Given the description of an element on the screen output the (x, y) to click on. 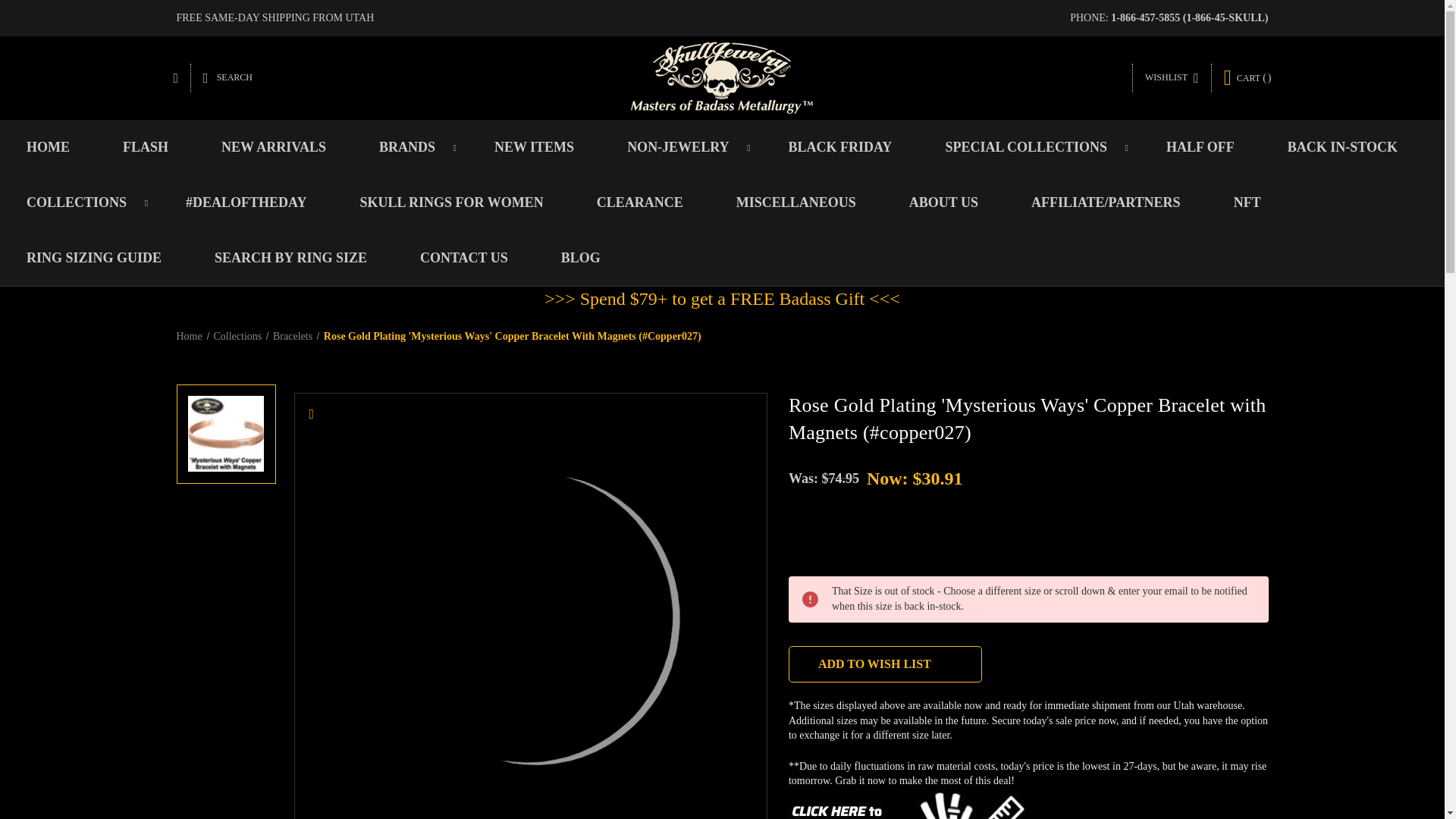
HOME (48, 147)
WISHLIST (1171, 77)
CART (1247, 77)
FLASH (145, 147)
NON-JEWELRY (680, 147)
NEW ITEMS (533, 147)
SEARCH (227, 77)
SkullJewelry.com (721, 78)
NEW ARRIVALS (273, 147)
BRANDS (409, 147)
